Given the description of an element on the screen output the (x, y) to click on. 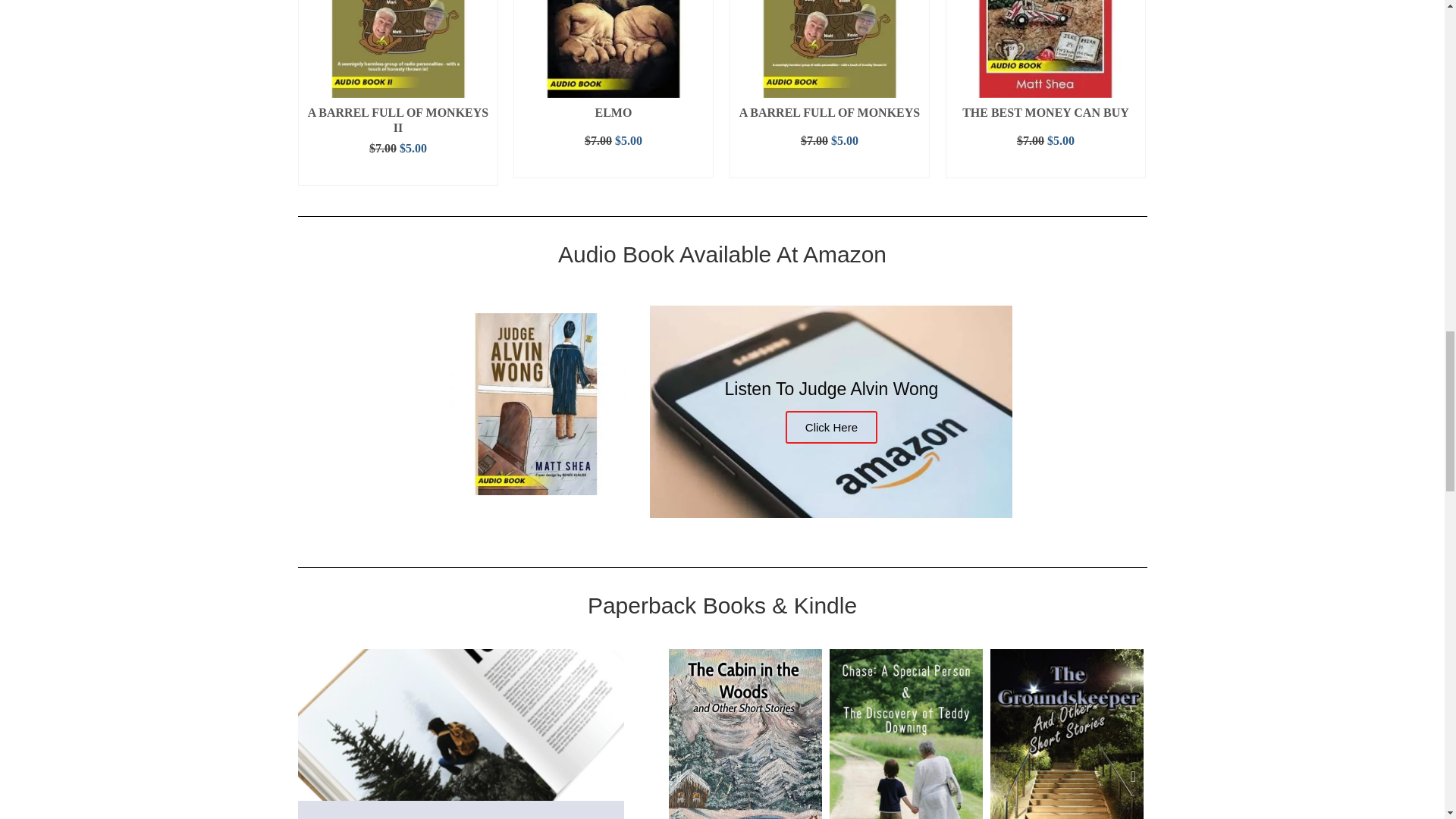
A BARREL FULL OF MONKEYS II (397, 116)
ELMO (613, 112)
SALE! (613, 48)
SALE! (397, 48)
ADD TO CART (613, 165)
SALE! (828, 48)
ADD TO CART (397, 173)
